Given the description of an element on the screen output the (x, y) to click on. 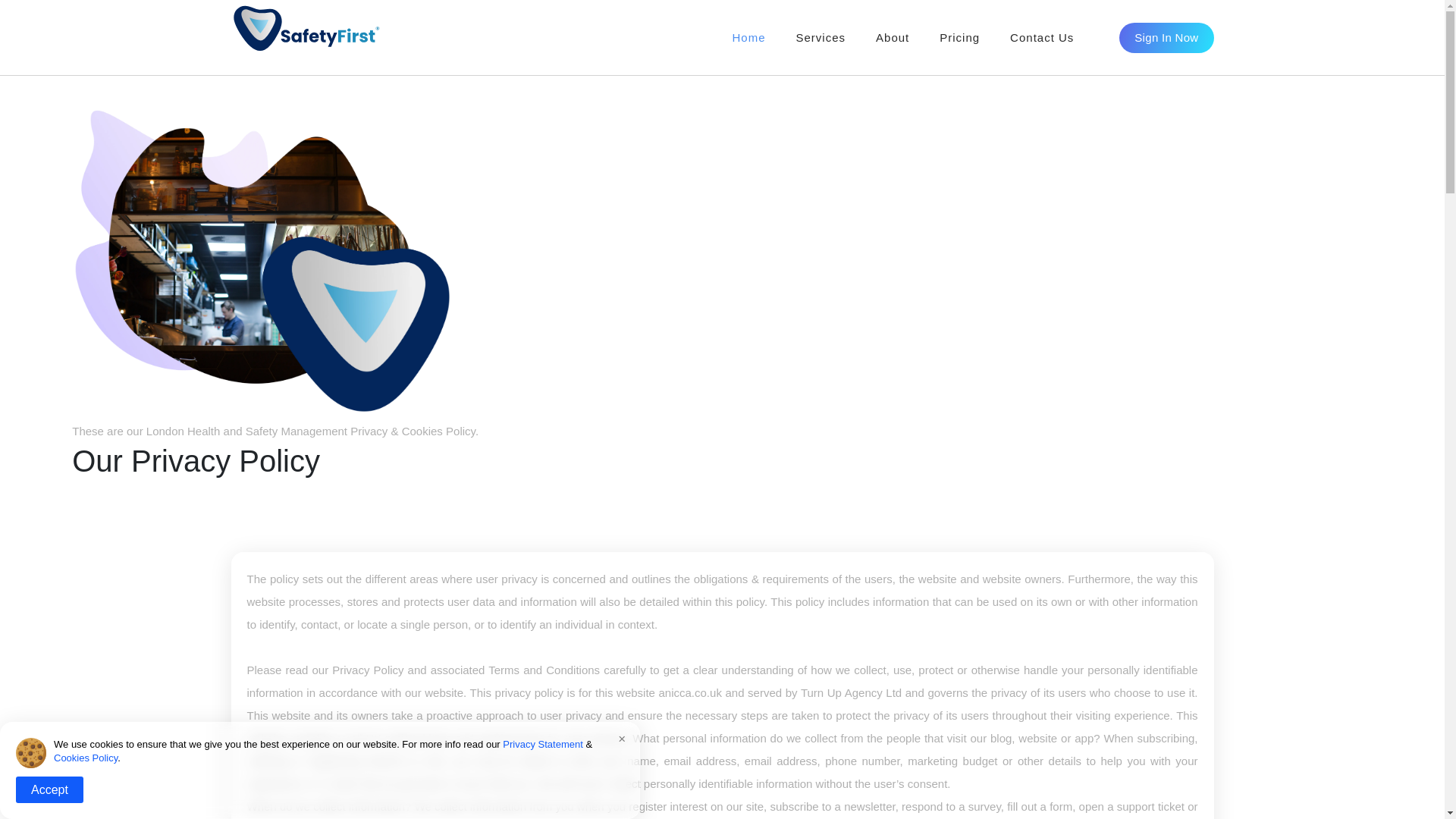
Privacy Statement (542, 744)
Pricing (959, 15)
Home (748, 7)
Services (820, 10)
Home (748, 37)
Cookies Policy (85, 757)
Services (820, 37)
About (892, 37)
Contact Us (1042, 20)
Contact Us (1041, 37)
Accept (49, 789)
Sign In Now (1165, 23)
Pricing (959, 37)
About (892, 13)
